Given the description of an element on the screen output the (x, y) to click on. 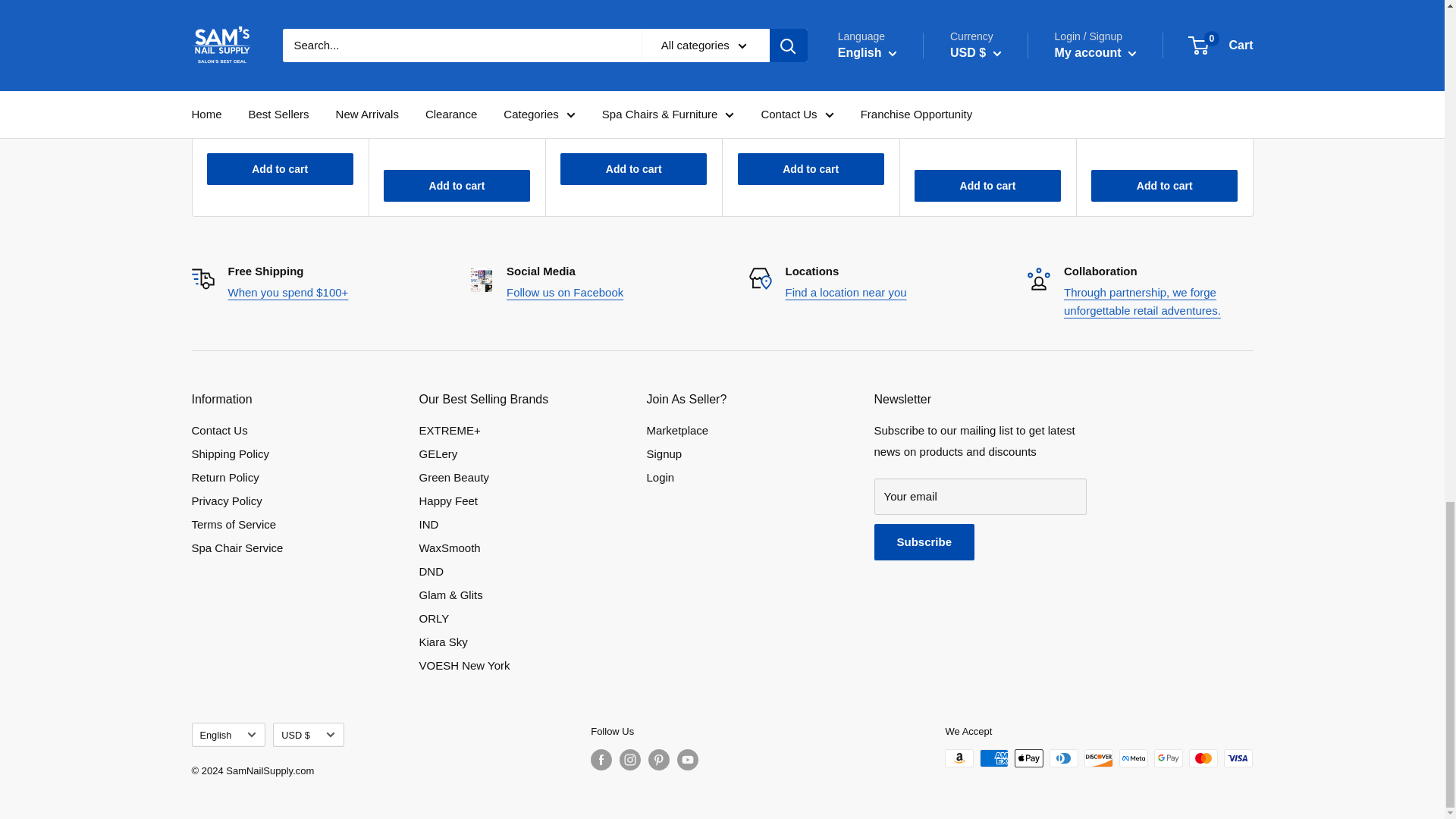
Our Locations (846, 291)
Shipping Policy (287, 291)
